Given the description of an element on the screen output the (x, y) to click on. 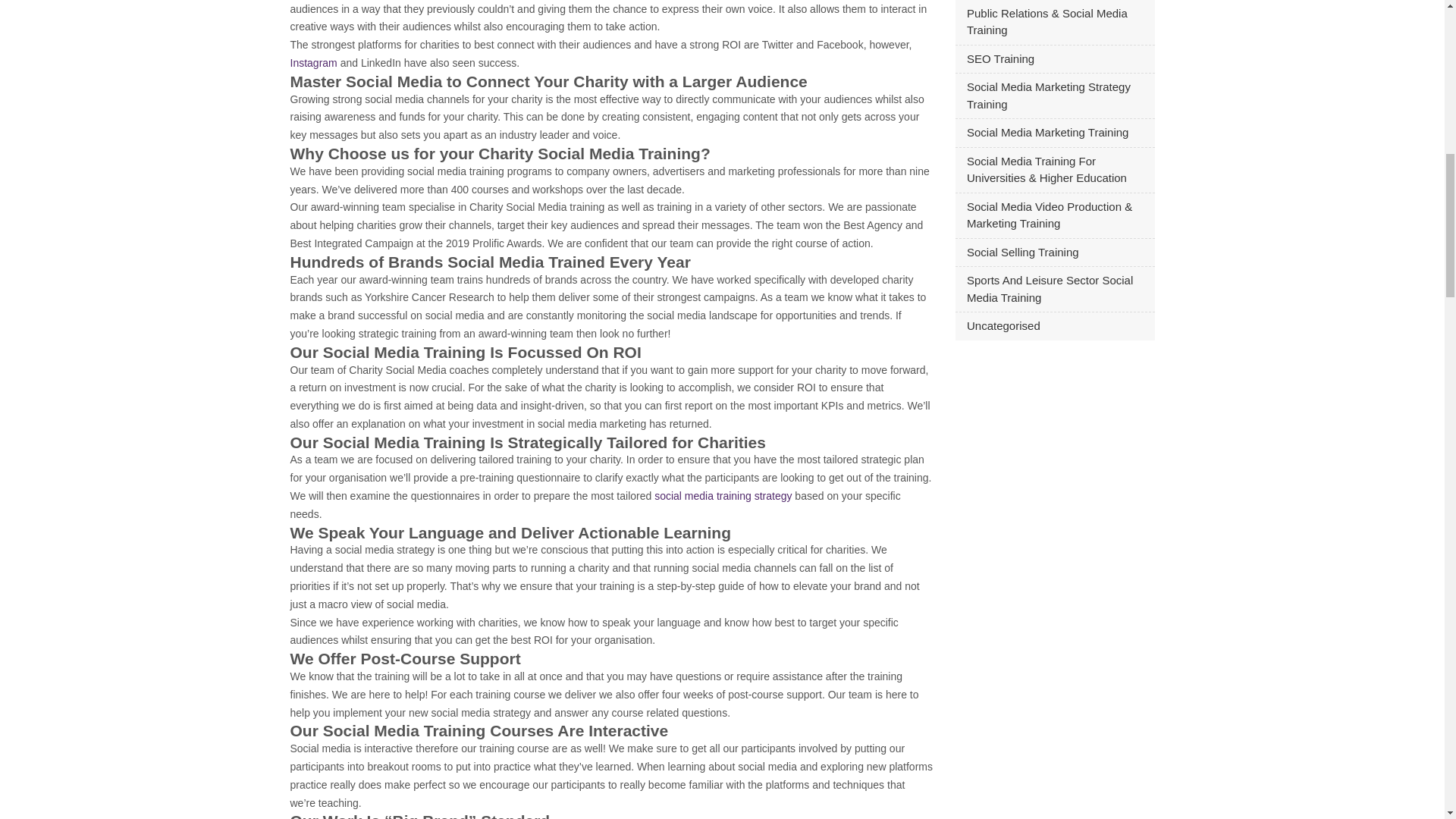
Instagram (312, 62)
